Given the description of an element on the screen output the (x, y) to click on. 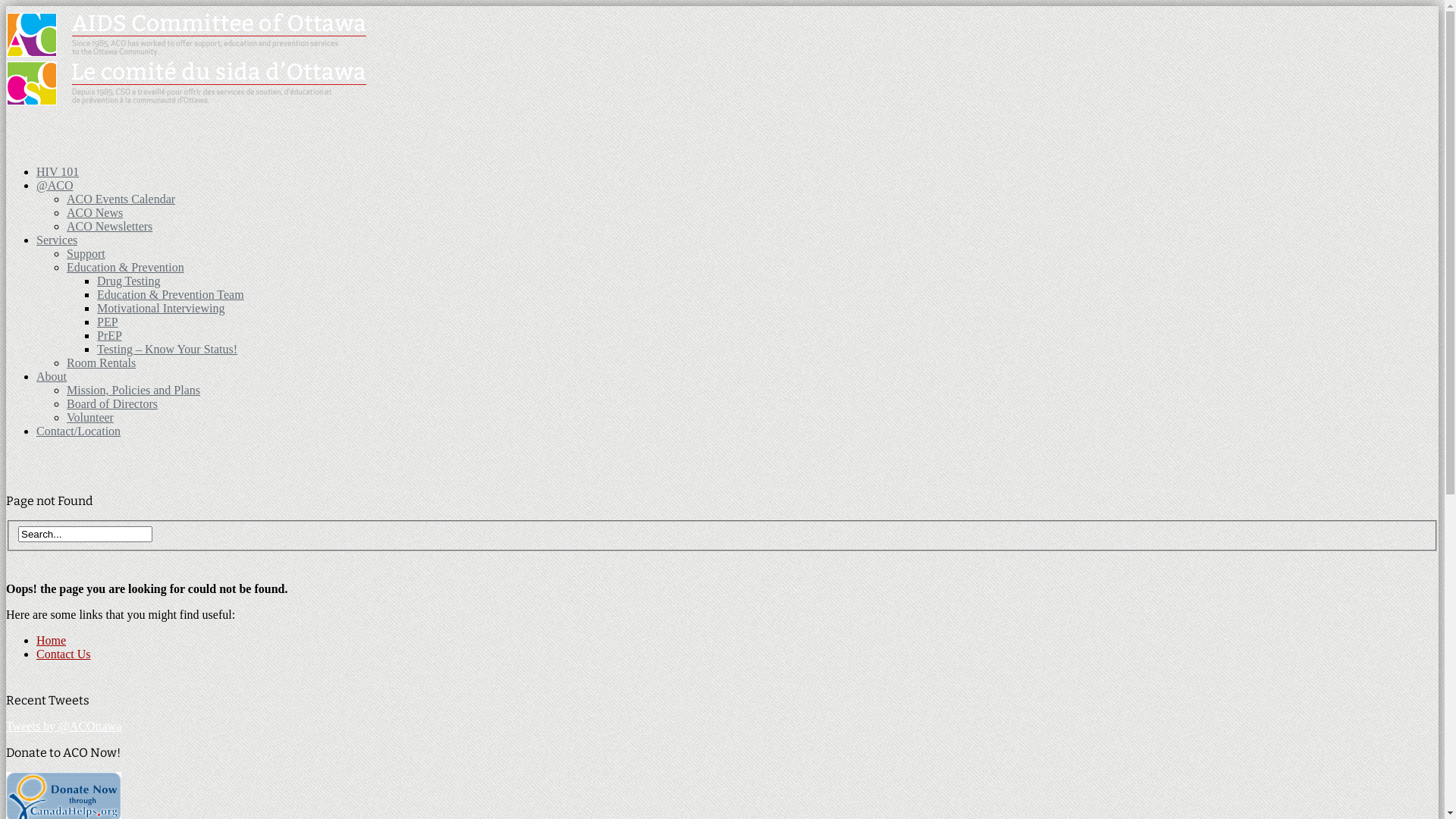
@ACO Element type: text (54, 184)
Contact Us Element type: text (63, 653)
Tweets by @ACOttawa Element type: text (63, 725)
Motivational Interviewing Element type: text (160, 307)
Drug Testing Element type: text (128, 280)
Education & Prevention Team Element type: text (170, 294)
Services Element type: text (56, 239)
Education & Prevention Element type: text (125, 266)
Volunteer Element type: text (89, 417)
About Element type: text (51, 376)
ACO Events Calendar Element type: text (120, 198)
Contact/Location Element type: text (78, 430)
PrEP Element type: text (109, 335)
Board of Directors Element type: text (111, 403)
Room Rentals Element type: text (100, 362)
Mission, Policies and Plans Element type: text (133, 389)
ACO Newsletters Element type: text (109, 225)
Home Element type: text (50, 639)
PEP Element type: text (107, 321)
ACO News Element type: text (94, 212)
HIV 101 Element type: text (57, 171)
Support Element type: text (85, 253)
